Given the description of an element on the screen output the (x, y) to click on. 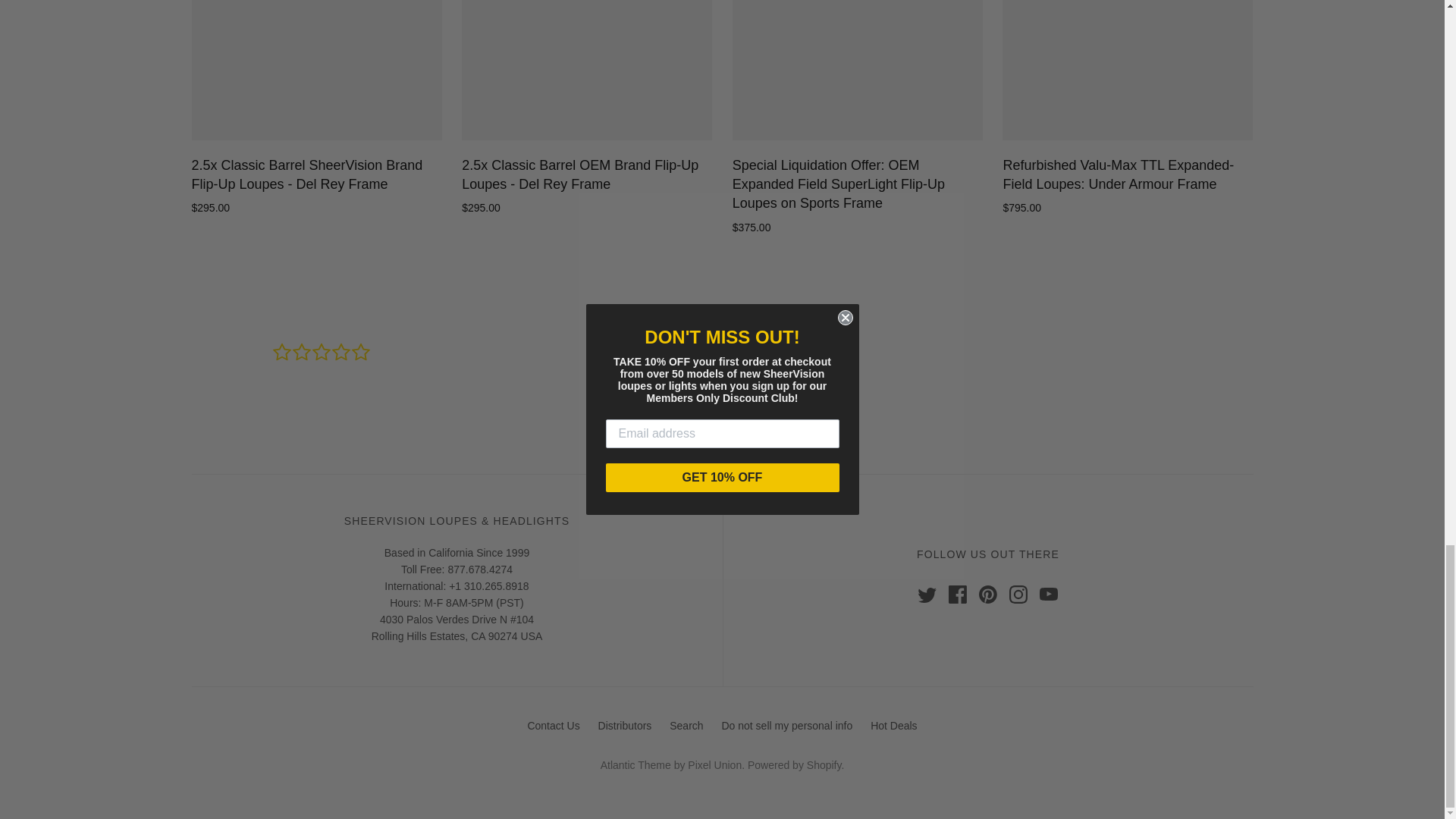
Product reviews widget (721, 376)
Instagram Icon (1018, 594)
Twitter Icon (927, 594)
Pinterest Icon (987, 594)
Facebook Icon (957, 594)
Youtube Icon (1048, 594)
